Given the description of an element on the screen output the (x, y) to click on. 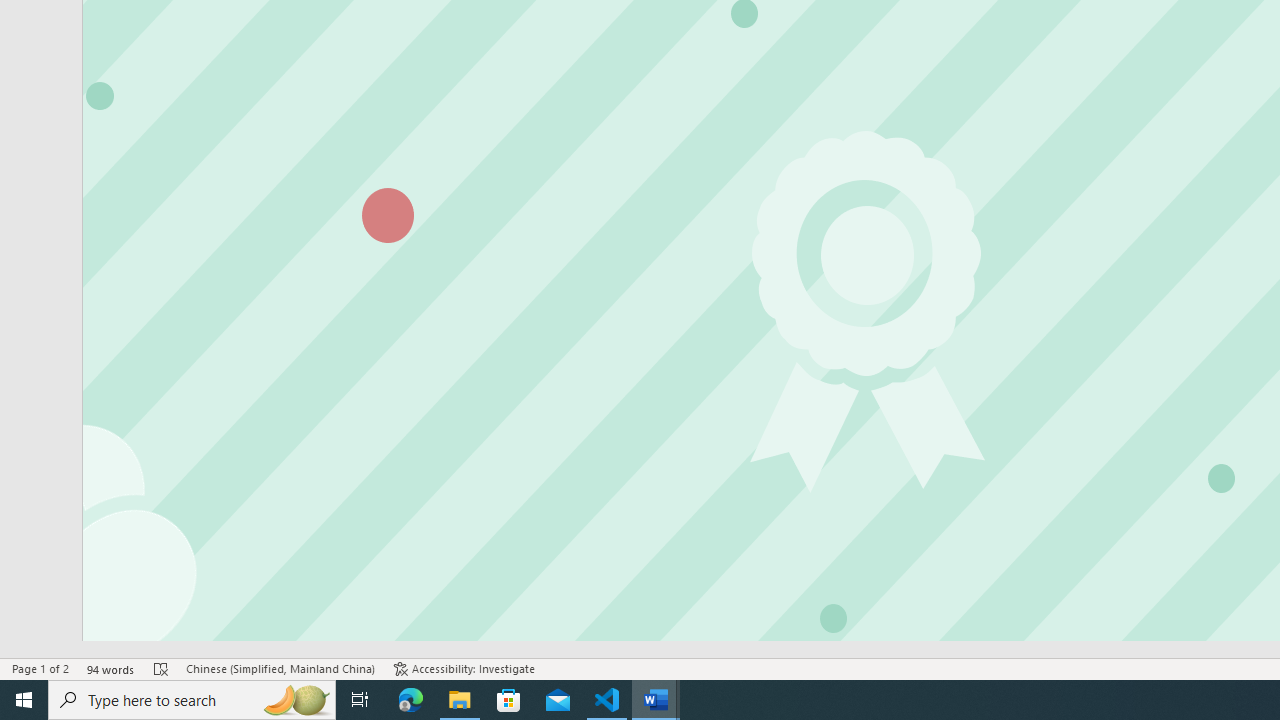
Page Number Page 1 of 2 (39, 668)
Word Count 94 words (111, 668)
